Given the description of an element on the screen output the (x, y) to click on. 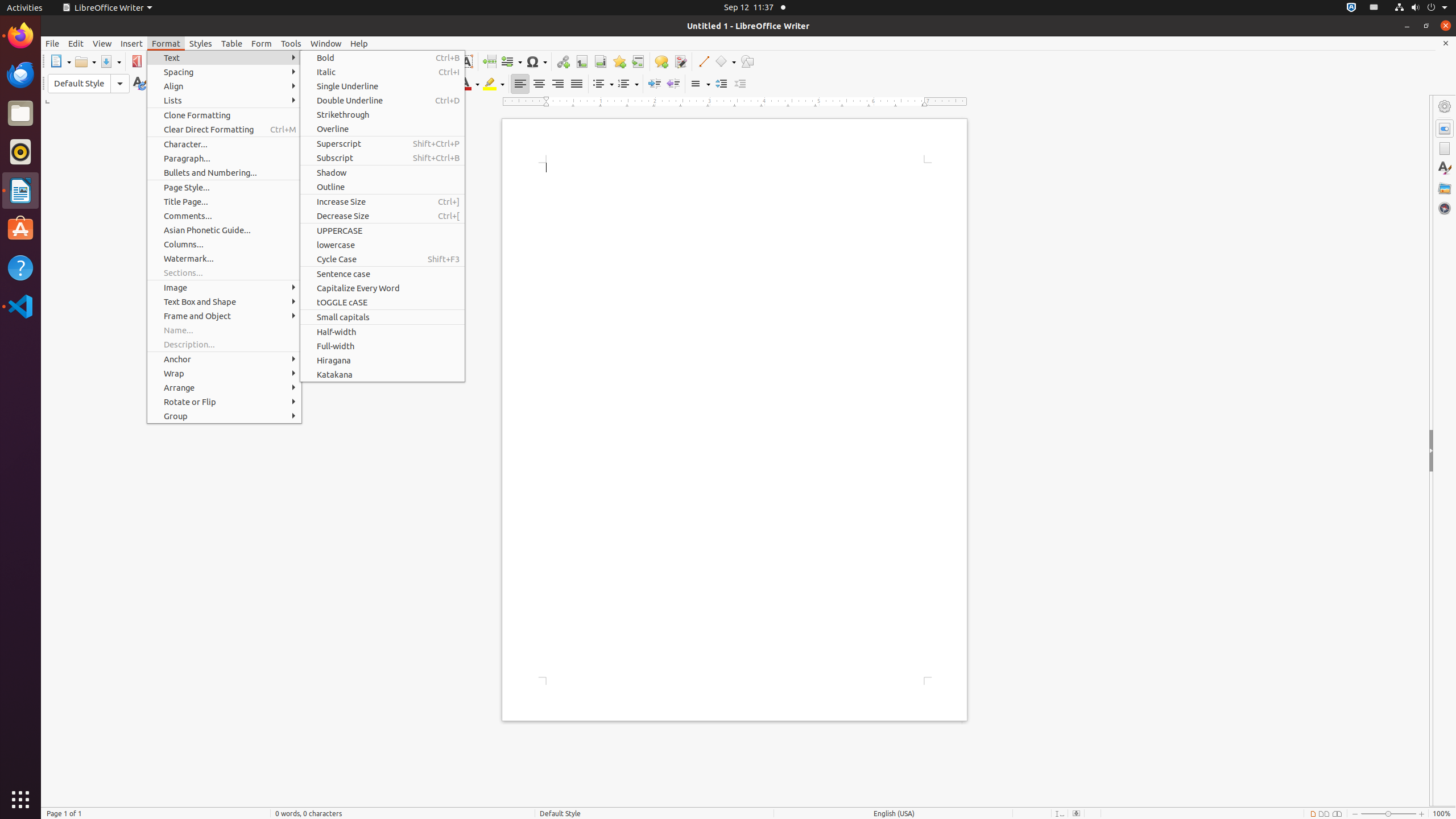
Form Element type: menu (261, 43)
Help Element type: menu (358, 43)
Description... Element type: menu-item (224, 344)
Numbering Element type: push-button (627, 83)
Cross-reference Element type: push-button (637, 61)
